Given the description of an element on the screen output the (x, y) to click on. 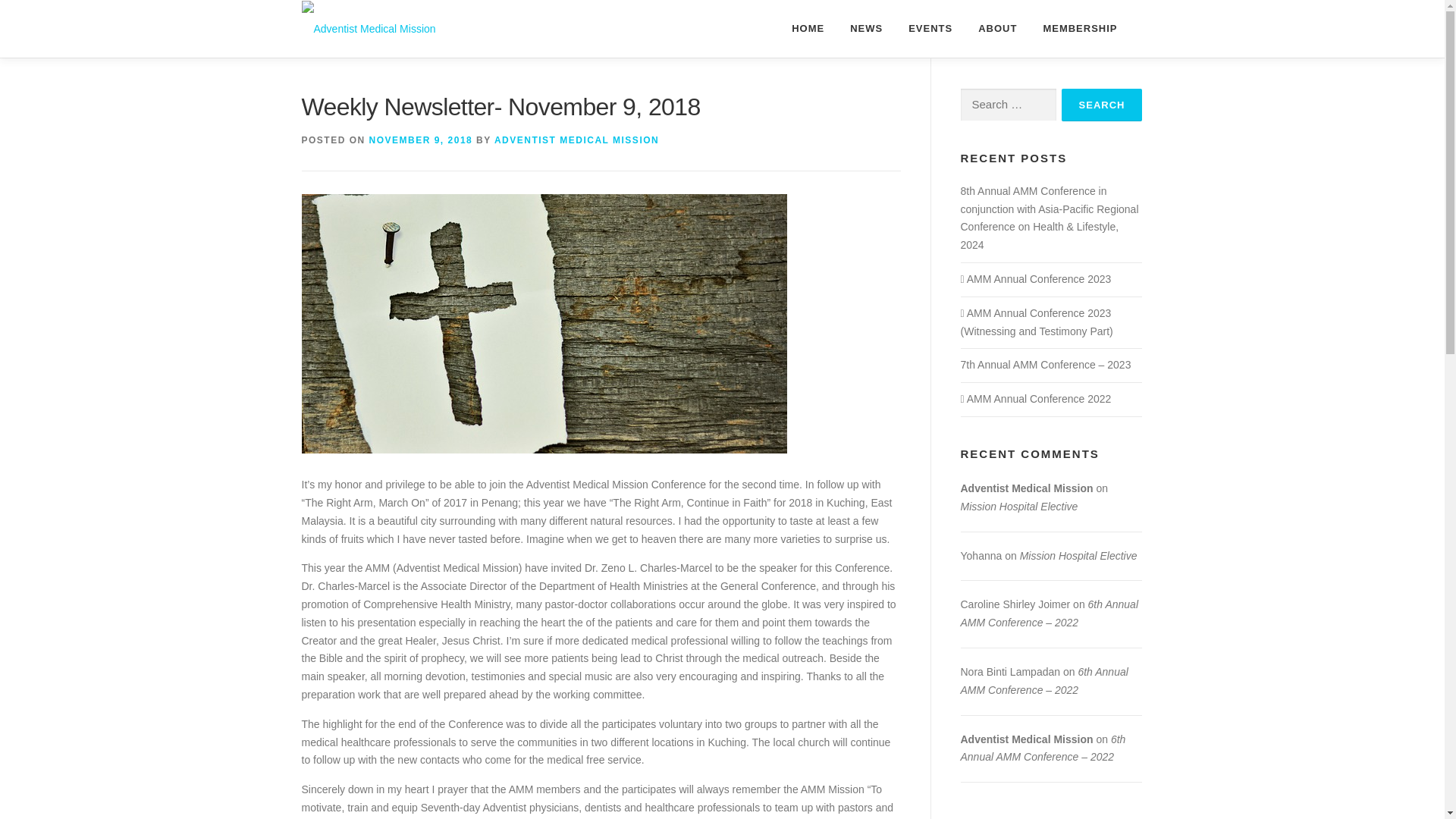
EVENTS (930, 28)
Search (1101, 104)
HOME (807, 28)
ADVENTIST MEDICAL MISSION (577, 140)
Mission Hospital Elective (1018, 506)
Adventist Medical Mission (1026, 739)
Search (1101, 104)
NEWS (866, 28)
Search (1101, 104)
Mission Hospital Elective (1078, 555)
